Given the description of an element on the screen output the (x, y) to click on. 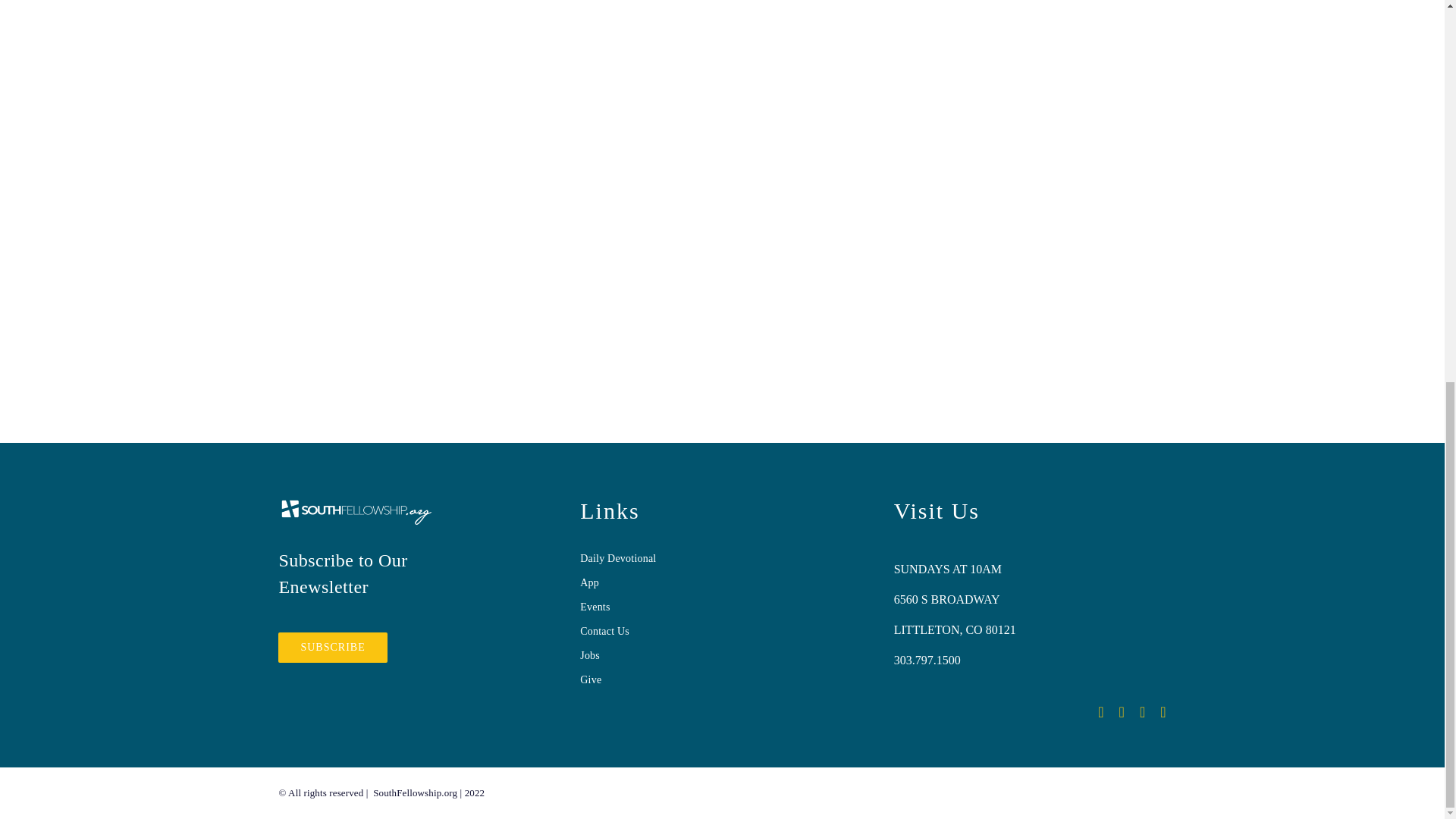
Logo Master-06 (355, 512)
